Given the description of an element on the screen output the (x, y) to click on. 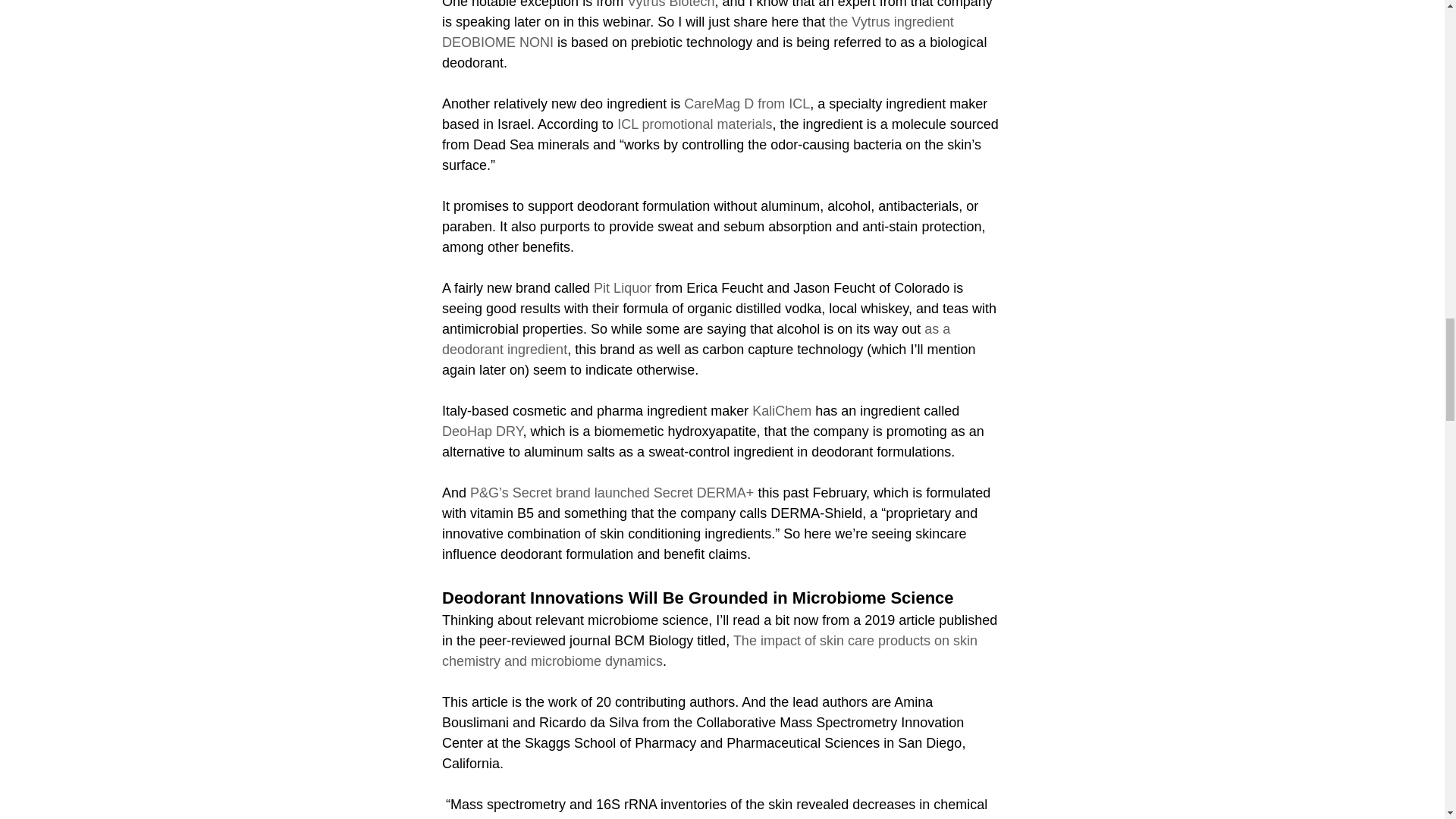
Pit Liquor (622, 287)
as a deodorant ingredient (697, 338)
DeoHap DRY (481, 430)
CareMag D from ICL (746, 102)
ICL promotional materials (694, 123)
KaliChem (781, 409)
the Vytrus ingredient DEOBIOME NONI (698, 31)
Vytrus Biotech (670, 4)
